Given the description of an element on the screen output the (x, y) to click on. 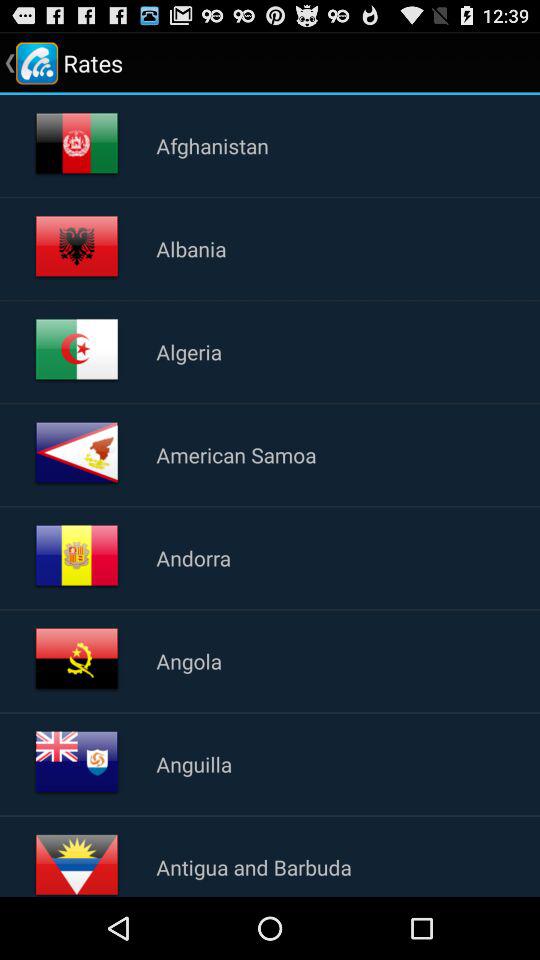
turn off the albania (191, 248)
